Given the description of an element on the screen output the (x, y) to click on. 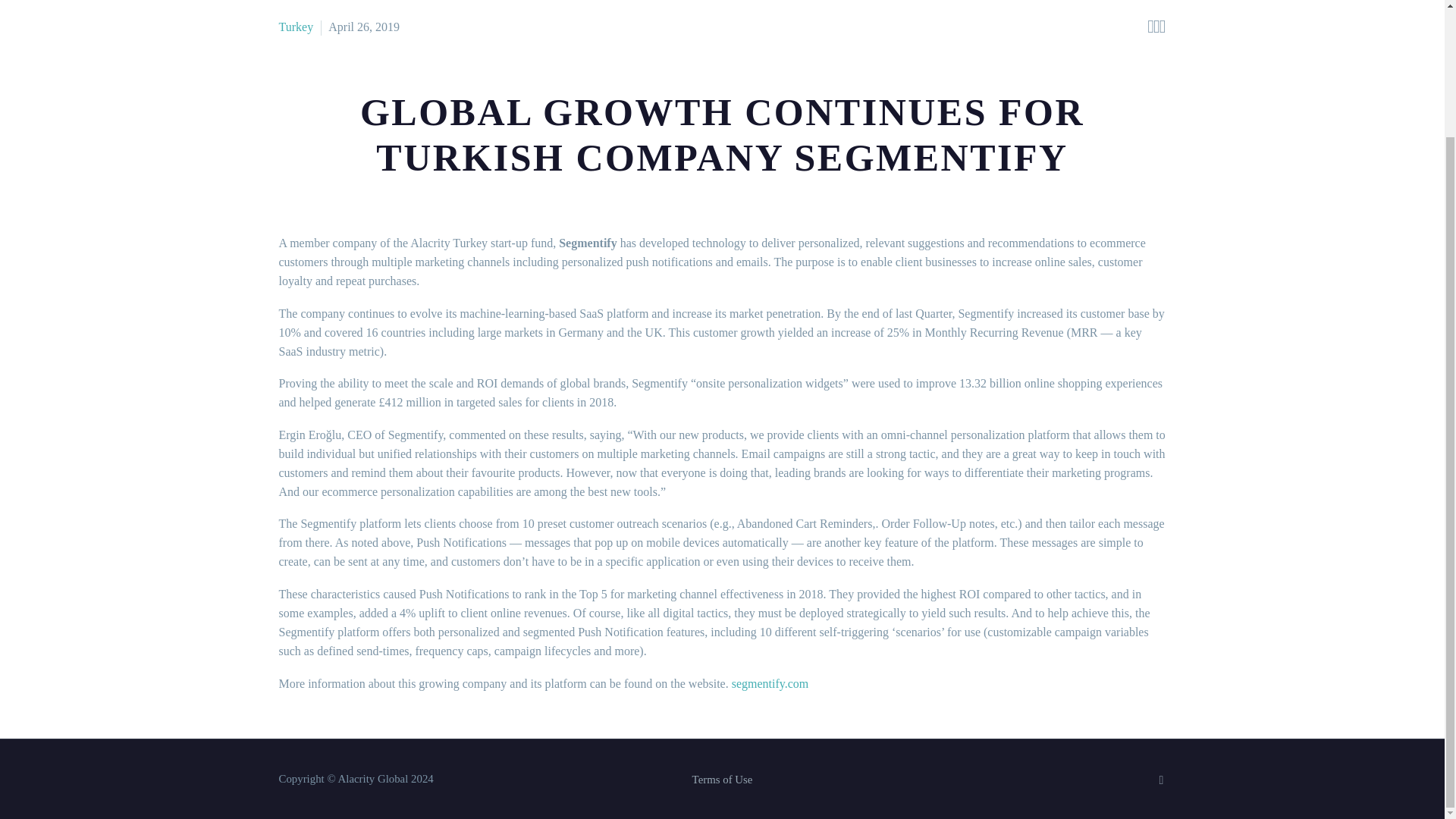
Turkey (296, 26)
Twitter (1161, 779)
segmentify.com (770, 683)
View all posts in Turkey (296, 26)
Terms of Use (722, 779)
